Given the description of an element on the screen output the (x, y) to click on. 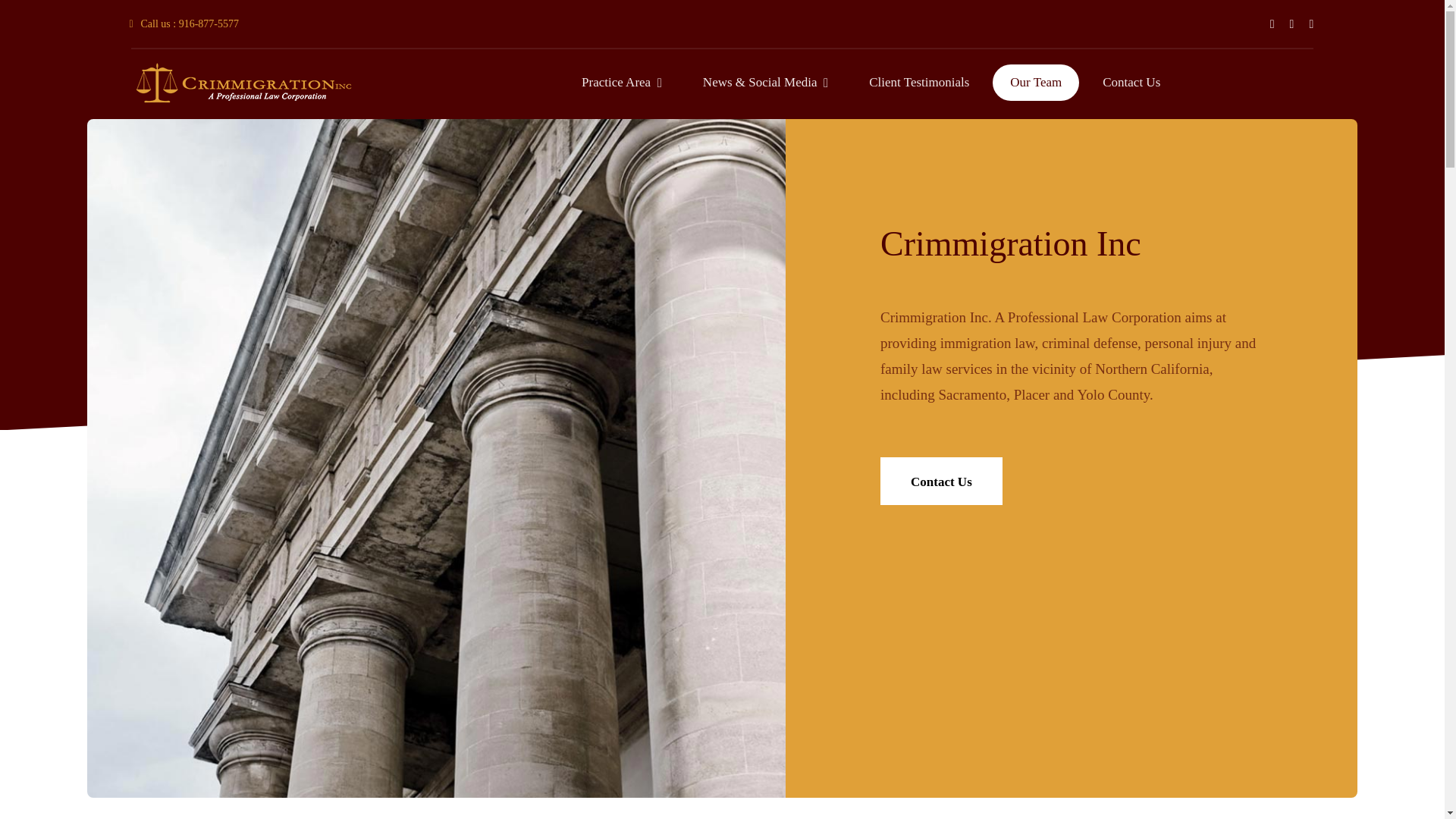
Contact Us (941, 481)
Client Testimonials (919, 82)
Our Team (1035, 82)
Contact Us (1130, 82)
Practice Area (621, 82)
Call us : 916-877-5577 (183, 23)
